Given the description of an element on the screen output the (x, y) to click on. 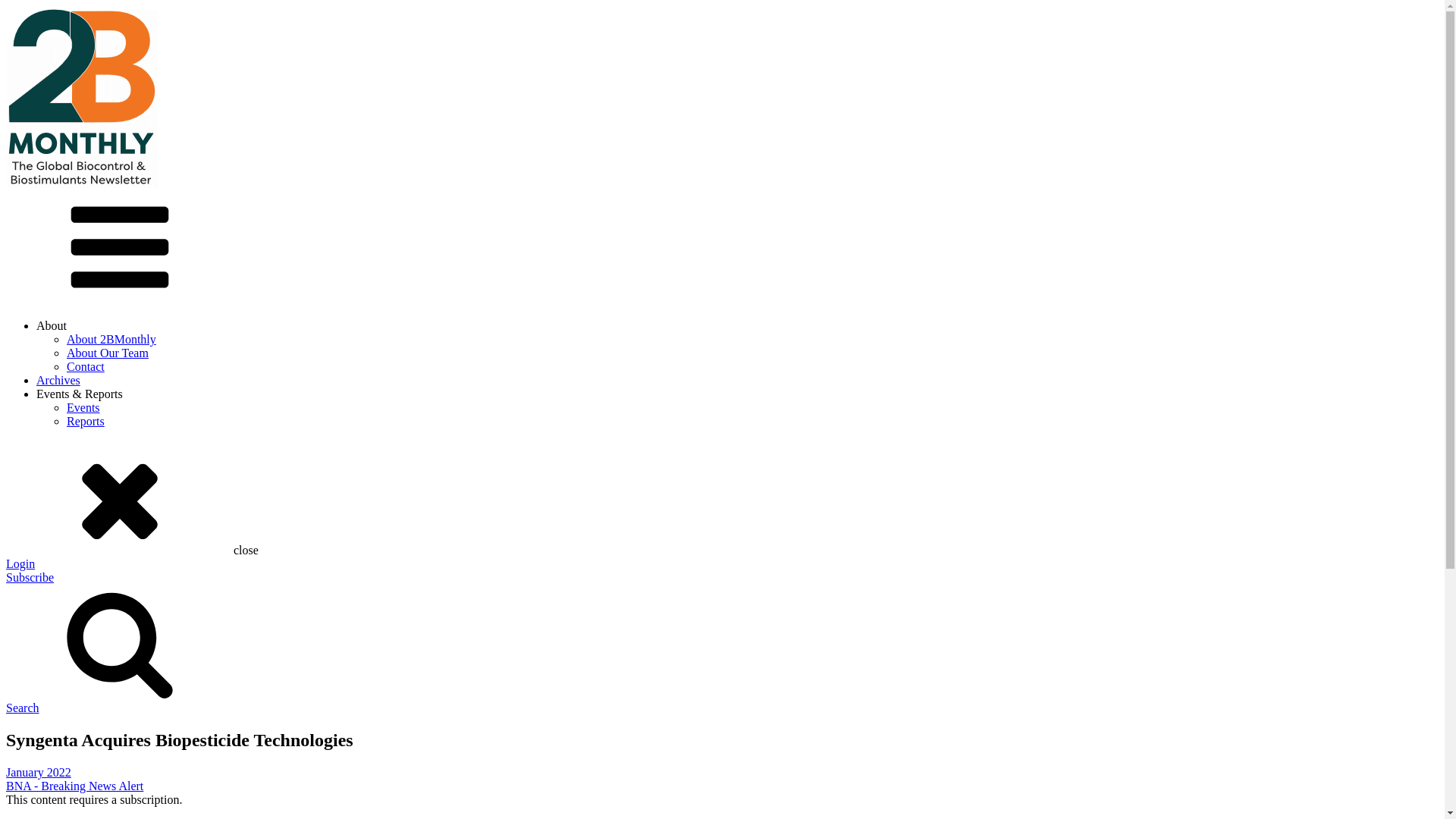
Reports Element type: text (85, 420)
Contact Element type: text (85, 366)
Subscribe Element type: text (29, 577)
About Element type: text (51, 325)
Events Element type: text (83, 407)
About 2BMonthly Element type: text (111, 338)
Archives Element type: text (58, 379)
Search Element type: text (722, 656)
January 2022 Element type: text (38, 771)
About Our Team Element type: text (107, 352)
Events & Reports Element type: text (79, 393)
BNA - Breaking News Alert Element type: text (74, 785)
Login Element type: text (722, 570)
